Given the description of an element on the screen output the (x, y) to click on. 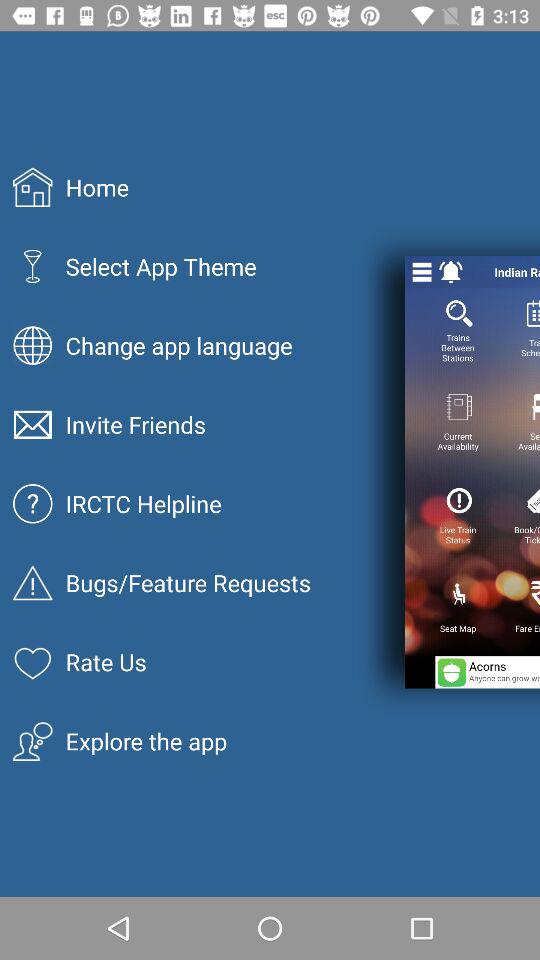
press icon next to rate us item (487, 671)
